Given the description of an element on the screen output the (x, y) to click on. 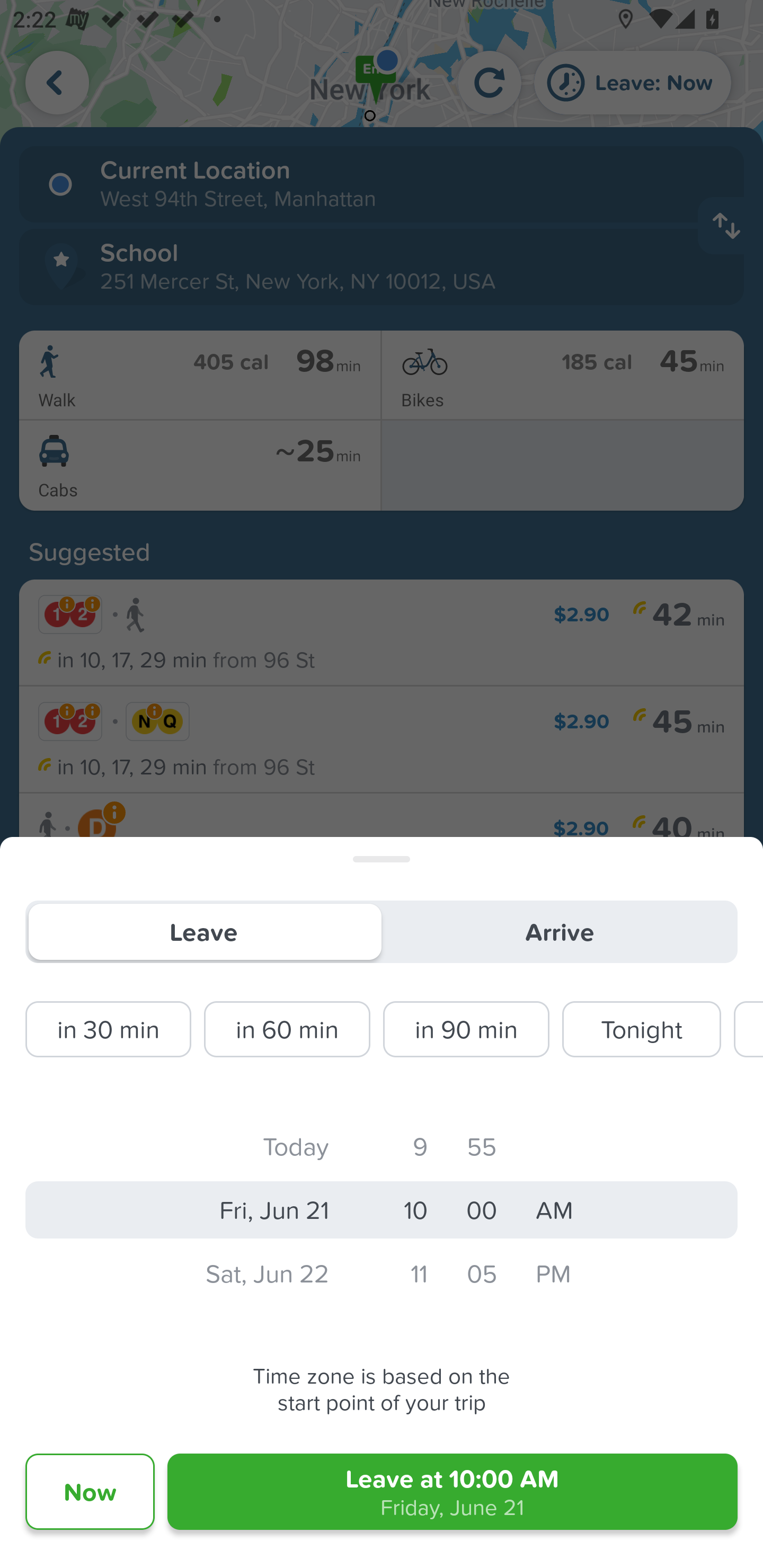
Leave at 10:00 AM Friday, June 21 (452, 1491)
